Given the description of an element on the screen output the (x, y) to click on. 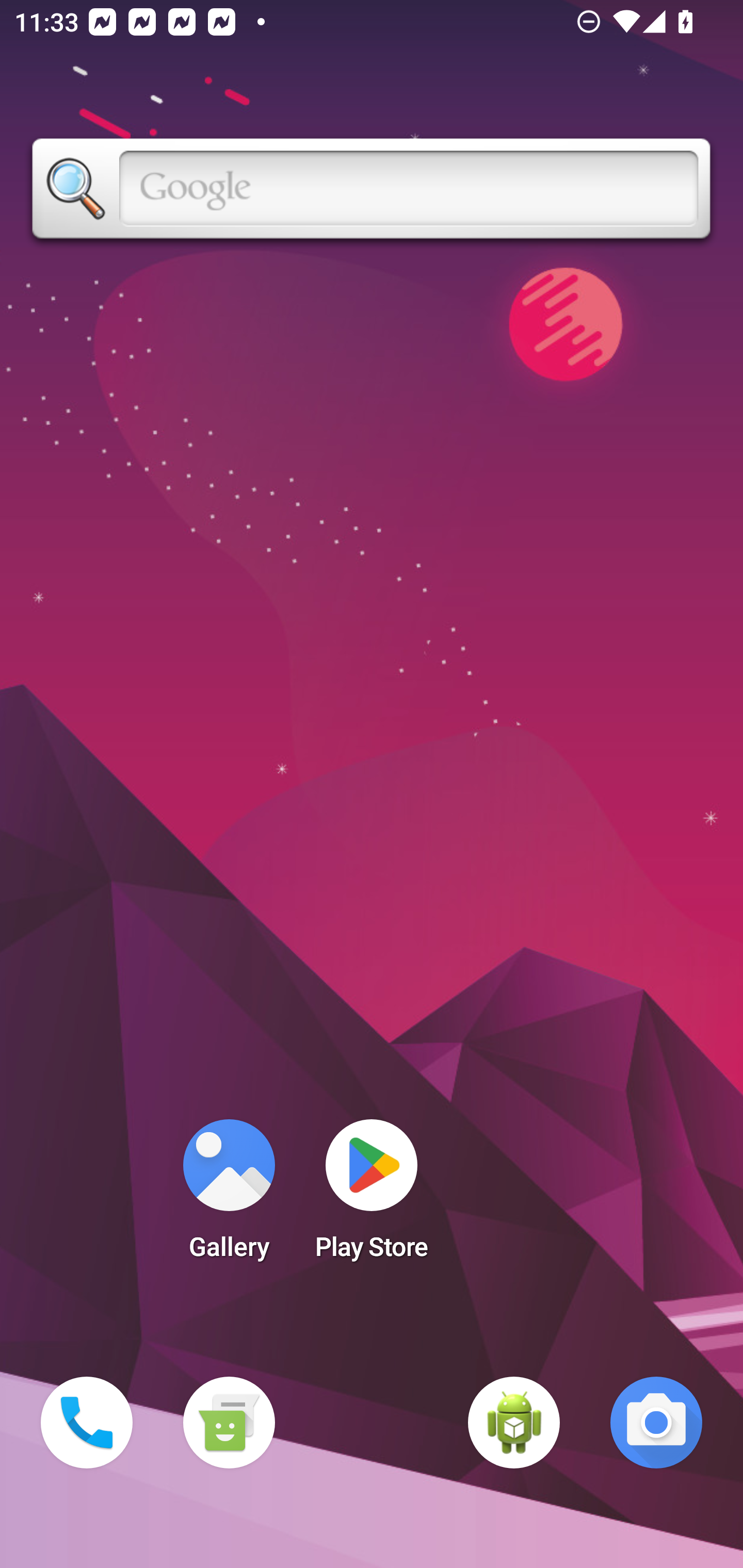
Gallery (228, 1195)
Play Store (371, 1195)
Phone (86, 1422)
Messaging (228, 1422)
WebView Browser Tester (513, 1422)
Camera (656, 1422)
